Given the description of an element on the screen output the (x, y) to click on. 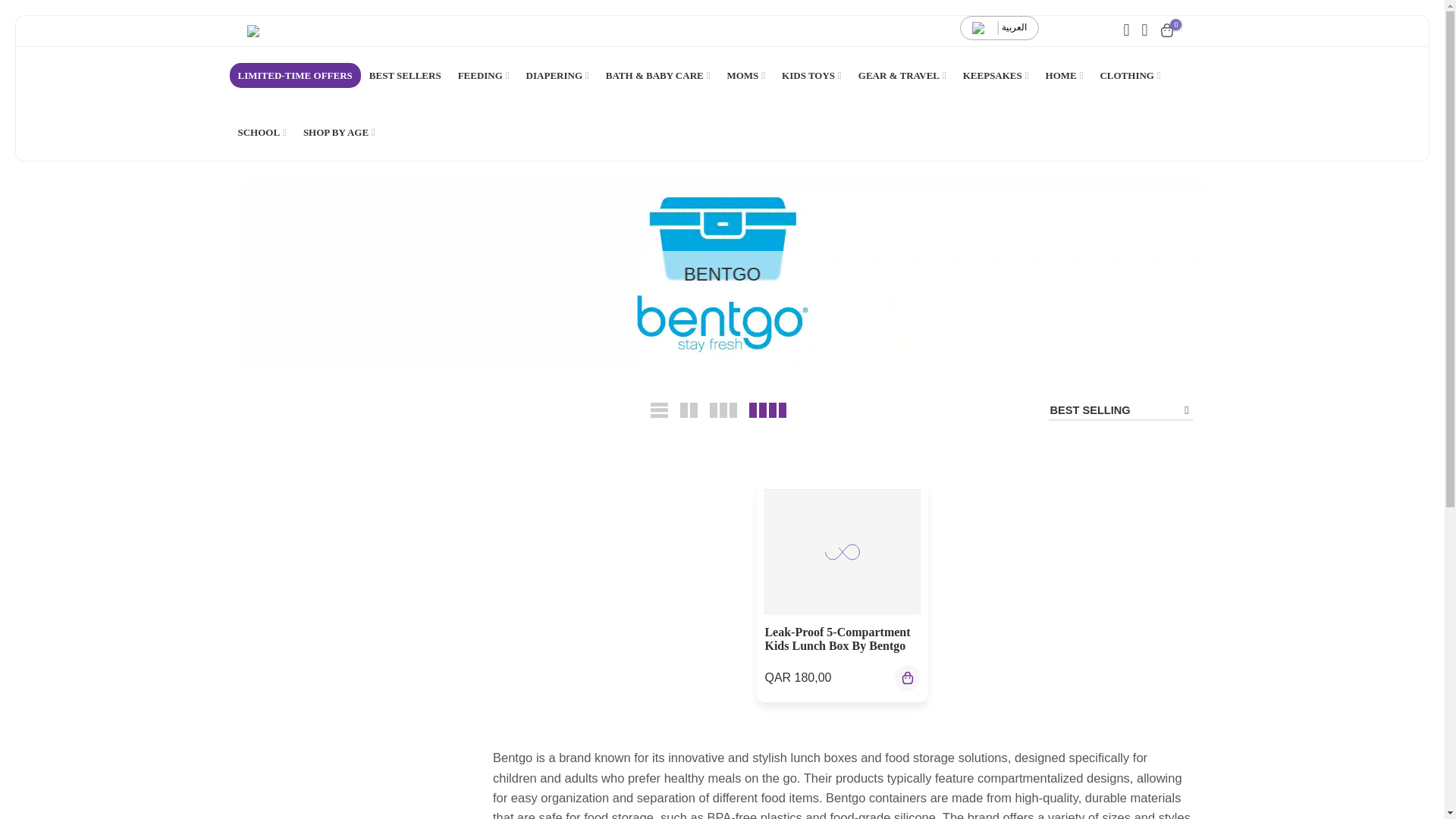
LIMITED-TIME OFFERS (293, 75)
0 (1166, 29)
FEEDING (483, 75)
BEST SELLERS (405, 75)
